Given the description of an element on the screen output the (x, y) to click on. 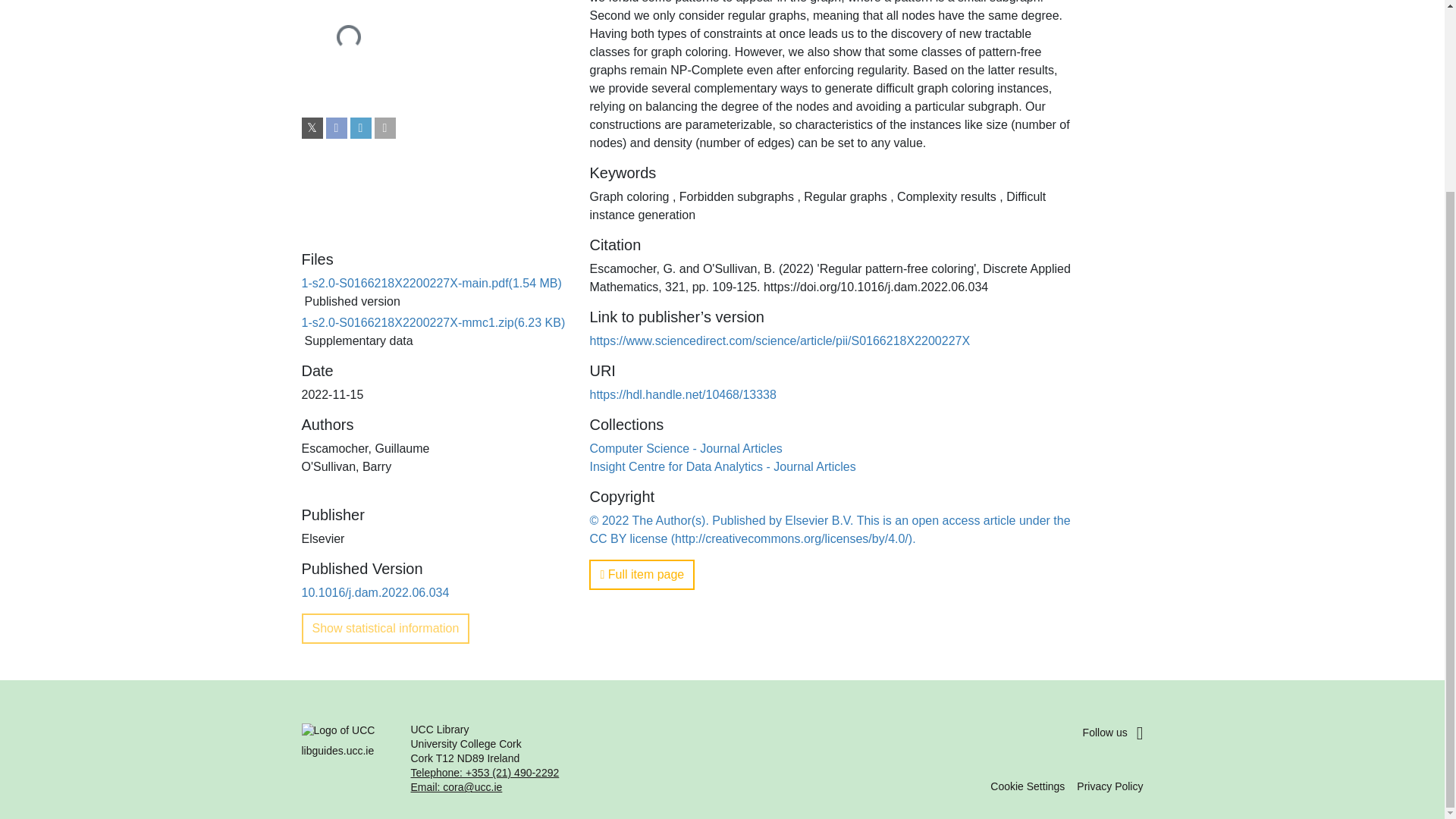
Cookie Settings (1027, 786)
Computer Science - Journal Articles (685, 447)
Full item page (641, 574)
Insight Centre for Data Analytics - Journal Articles (722, 465)
Privacy Policy (1109, 786)
Show statistical information (385, 628)
libguides.ucc.ie (347, 758)
